Given the description of an element on the screen output the (x, y) to click on. 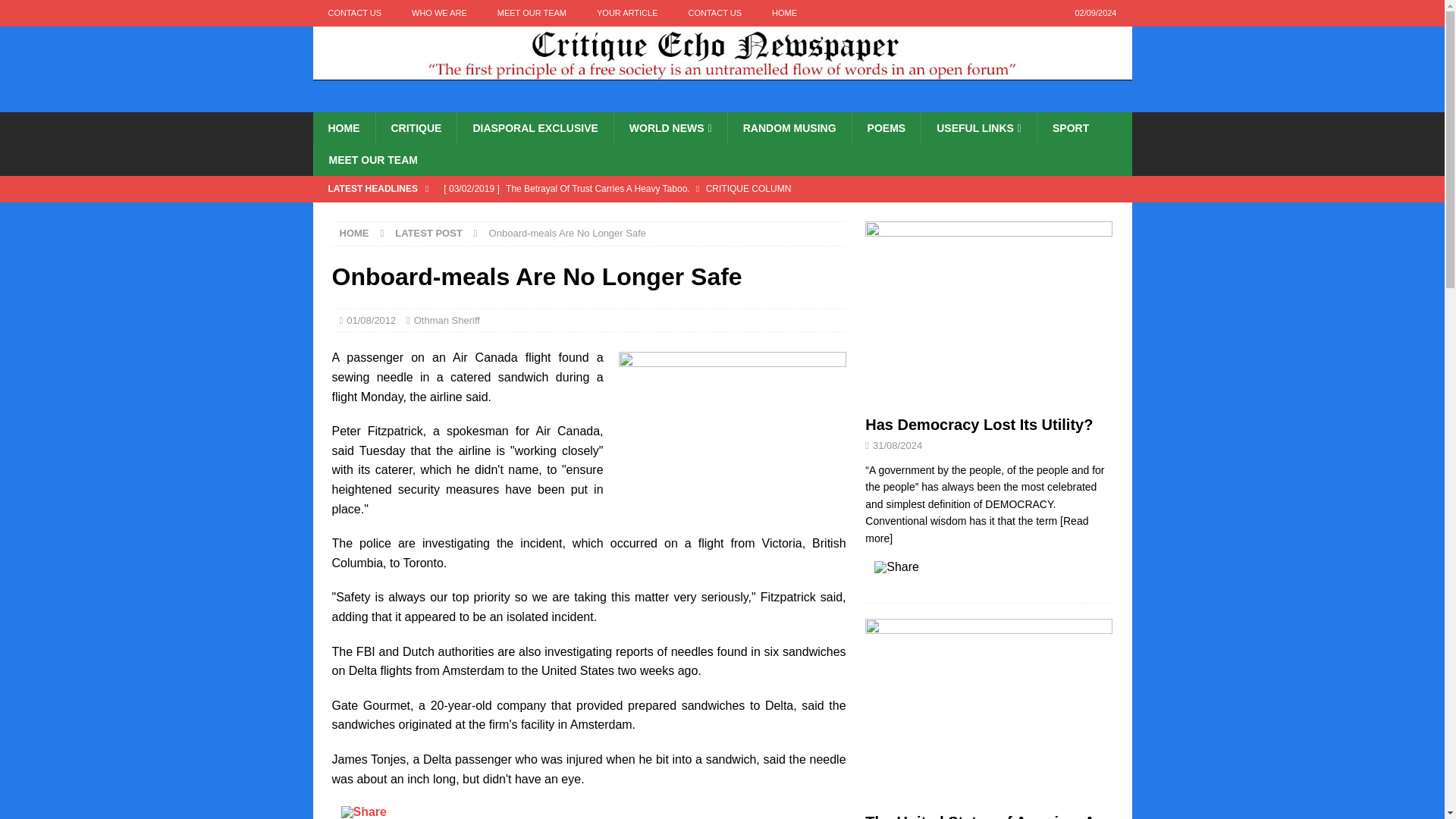
CONTACT US (714, 13)
DIASPORAL EXCLUSIVE (534, 128)
POEMS (886, 128)
LATEST POST (428, 233)
YOUR ARTICLE (626, 13)
HOME (354, 233)
USEFUL LINKS (978, 128)
Othman Sheriff (446, 319)
SPORT (1069, 128)
WHO WE ARE (438, 13)
